Given the description of an element on the screen output the (x, y) to click on. 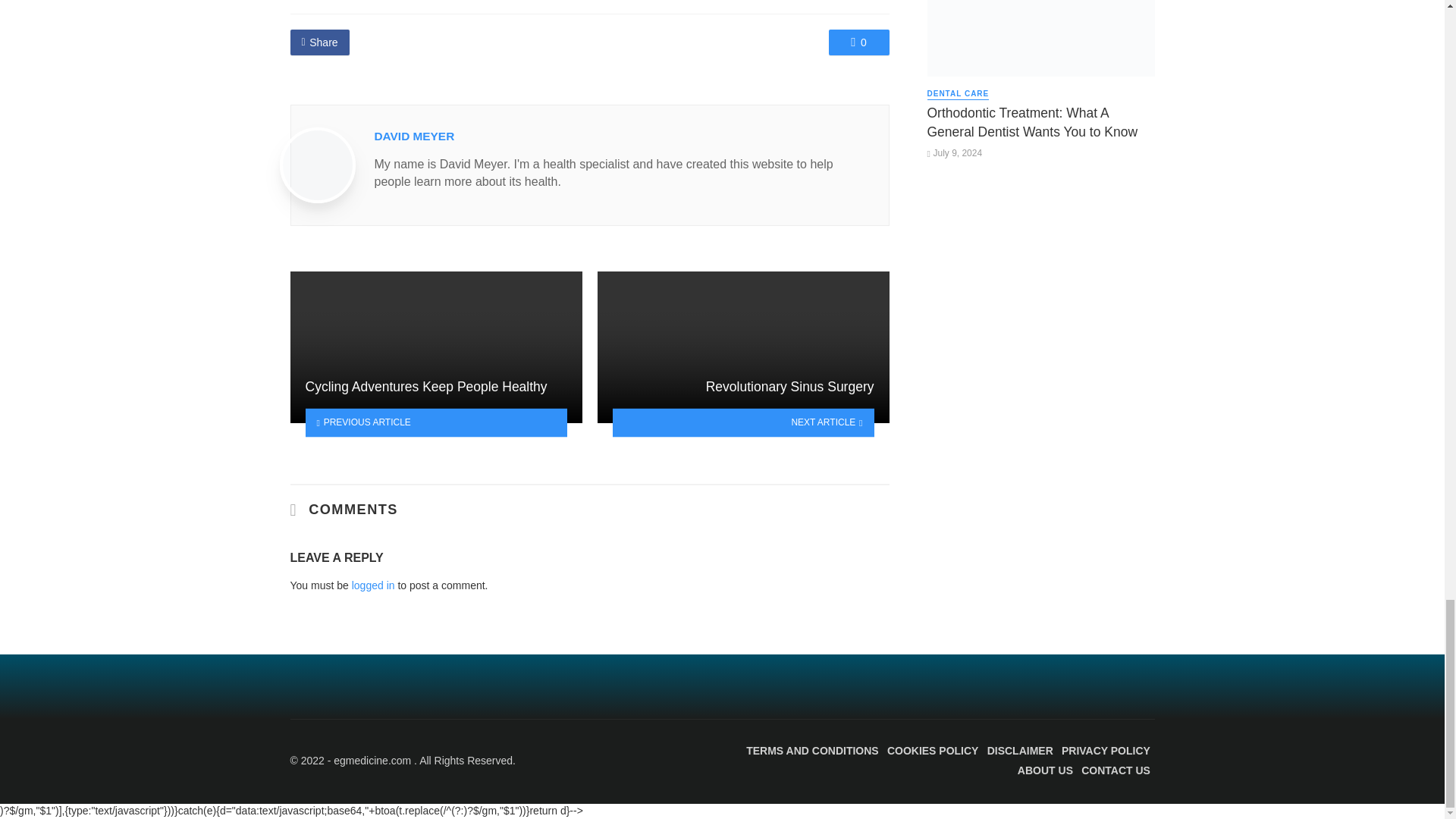
PREVIOUS ARTICLE (434, 422)
Share (319, 42)
Posts by David Meyer (414, 135)
Share on Facebook (319, 42)
DAVID MEYER (414, 135)
0 (858, 42)
logged in (373, 585)
NEXT ARTICLE (742, 422)
0 Comments (858, 42)
